Given the description of an element on the screen output the (x, y) to click on. 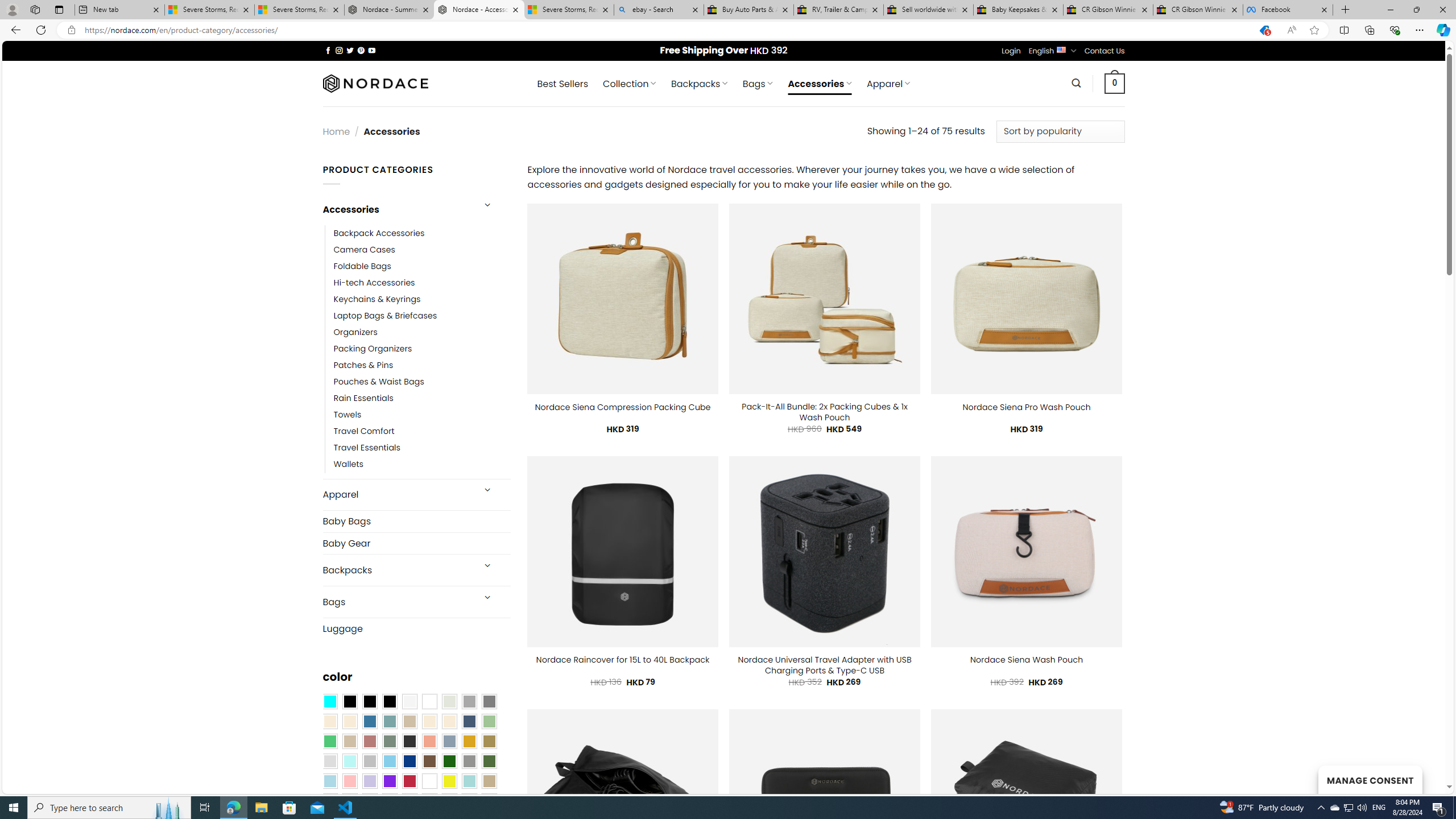
Brown (429, 761)
Black (369, 701)
Gold (468, 741)
 Best Sellers (562, 83)
MANAGE CONSENT (1369, 779)
Organizers (355, 332)
Travel Essentials (366, 448)
Luggage (416, 628)
